Given the description of an element on the screen output the (x, y) to click on. 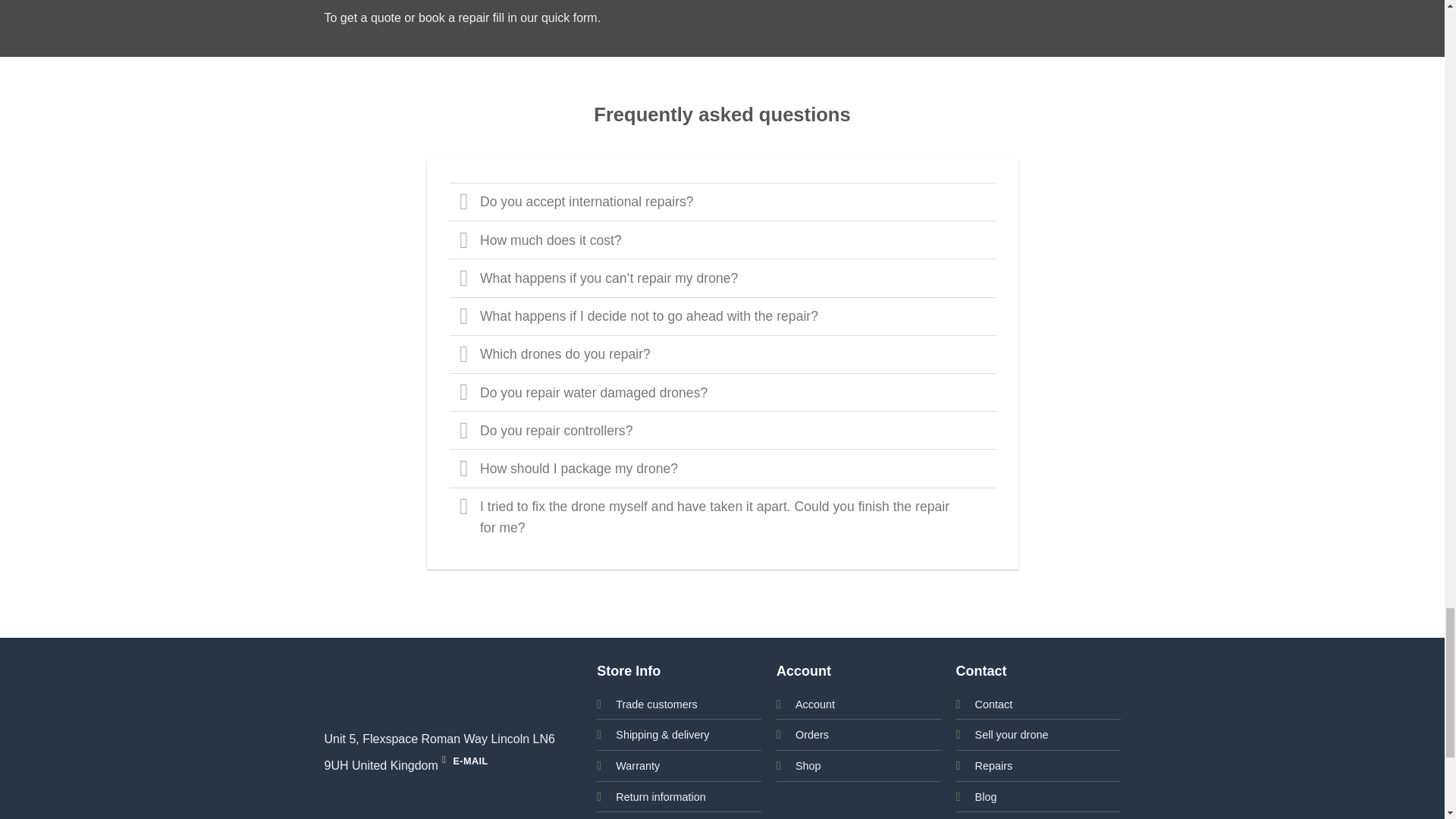
Do you accept international repairs? (721, 201)
Do you repair controllers? (721, 429)
How much does it cost? (721, 239)
What happens if I decide not to go ahead with the repair? (721, 315)
Do you repair water damaged drones? (721, 392)
Which drones do you repair? (721, 353)
